Given the description of an element on the screen output the (x, y) to click on. 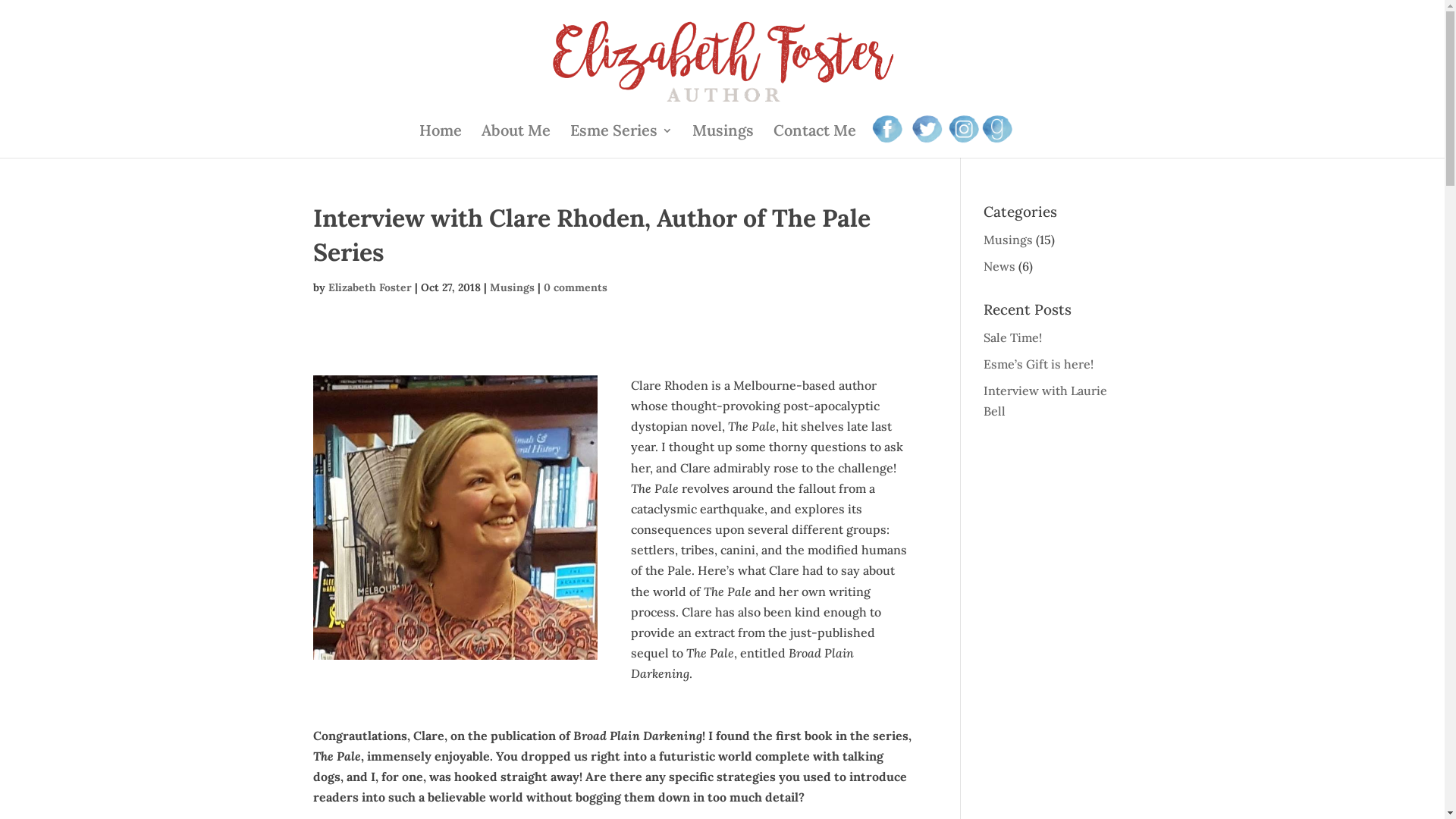
Esme Series Element type: text (621, 141)
TTT Element type: text (926, 129)
IIIII Element type: text (961, 129)
Home Element type: text (440, 141)
Musings Element type: text (1007, 239)
0 comments Element type: text (574, 287)
FFFF Element type: text (888, 129)
GGG Element type: text (999, 129)
Sale Time! Element type: text (1012, 337)
Elizabeth Foster Element type: text (369, 287)
Musings Element type: text (511, 287)
Interview with Laurie Bell Element type: text (1045, 400)
Musings Element type: text (722, 141)
About Me Element type: text (515, 141)
News Element type: text (999, 265)
Contact Me Element type: text (814, 141)
